Given the description of an element on the screen output the (x, y) to click on. 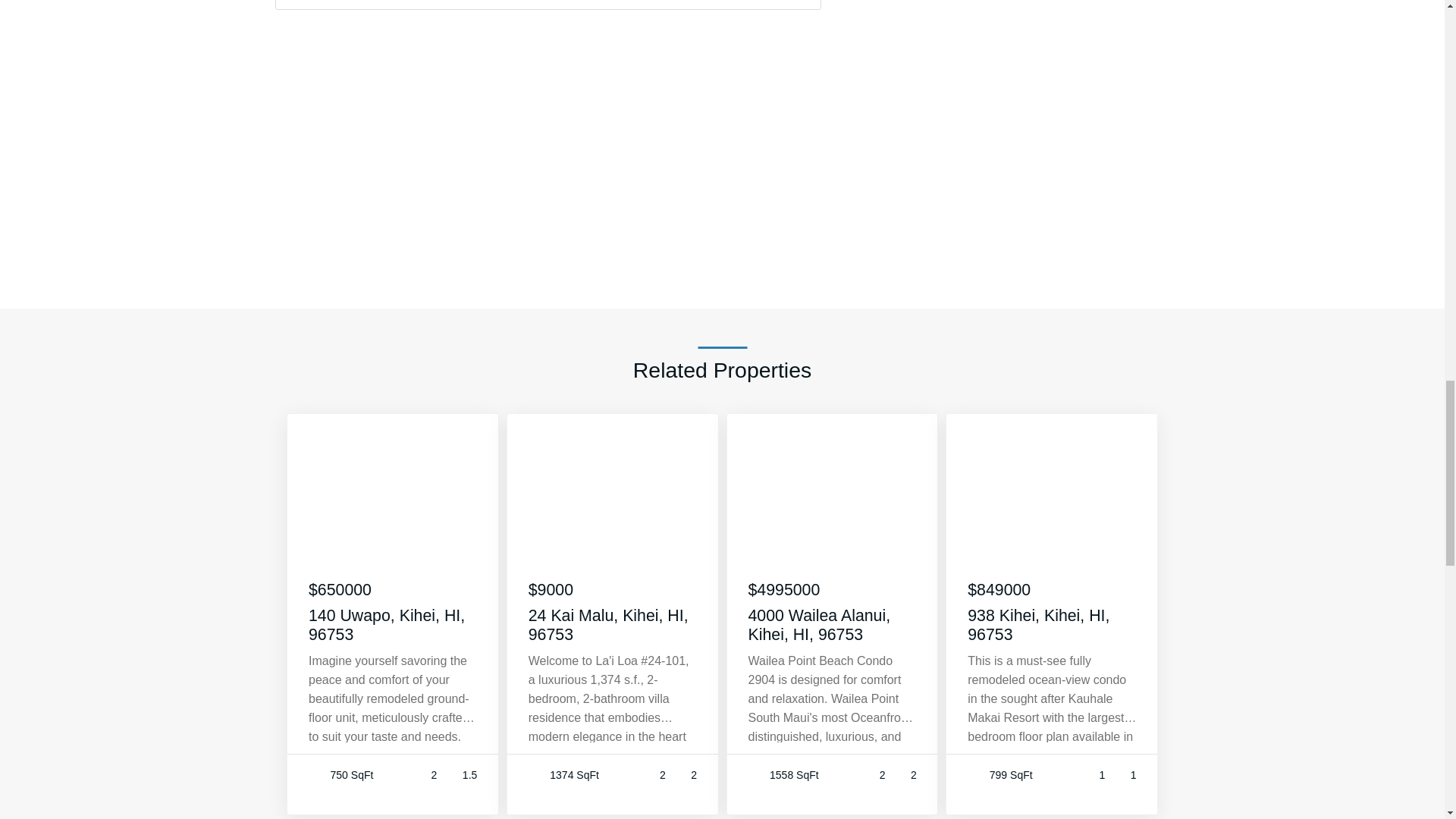
140 Uwapo, Kihei, HI, 96753 (392, 625)
938 Kihei, Kihei, HI, 96753 (1052, 625)
24 Kai Malu, Kihei, HI, 96753 (612, 625)
4000 Wailea Alanui, Kihei, HI, 96753 (832, 625)
